Given the description of an element on the screen output the (x, y) to click on. 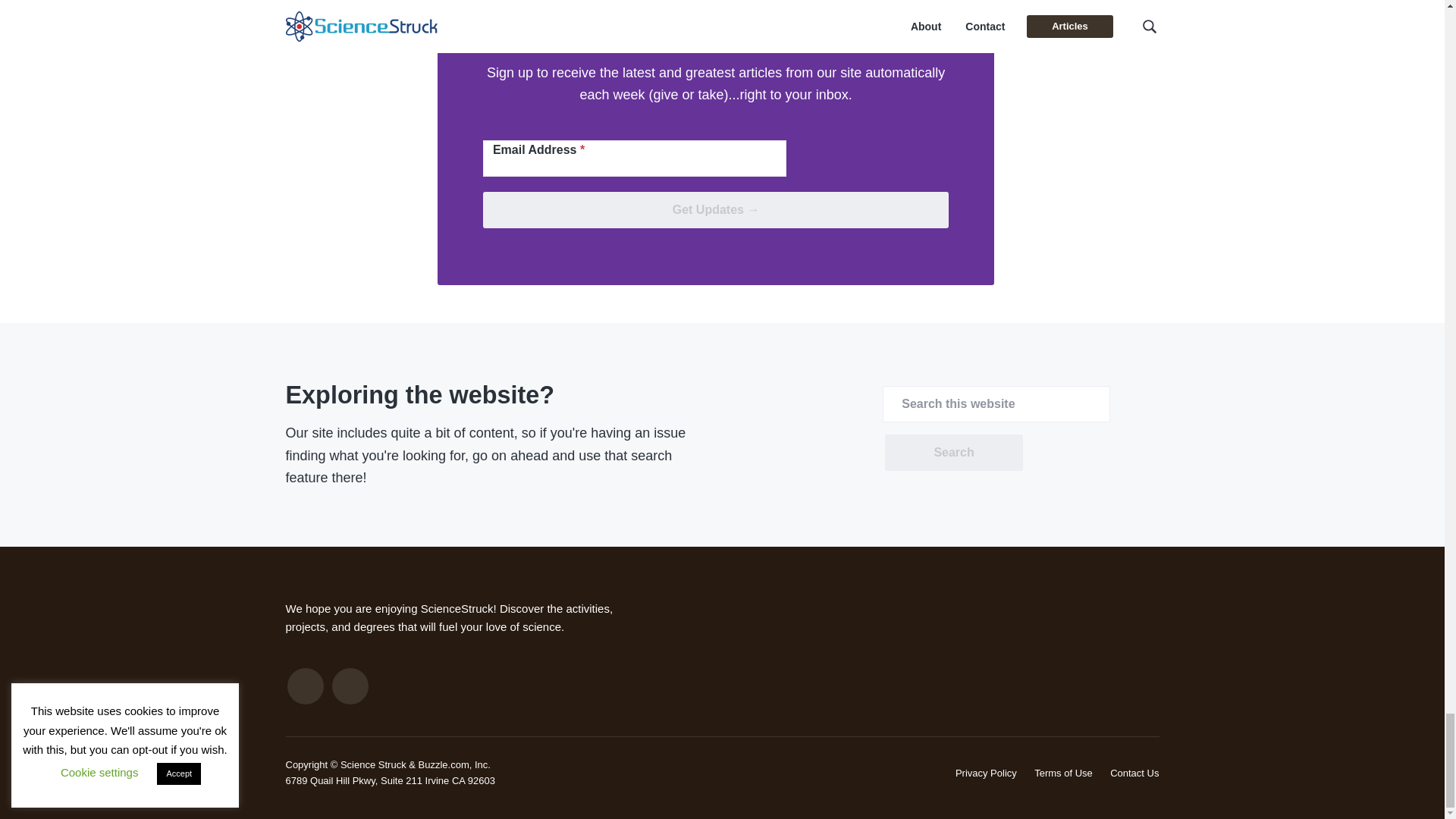
Search (953, 452)
Privacy Policy (985, 772)
Search (953, 452)
Search (953, 452)
Terms of Use (1063, 772)
Contact Us (1133, 772)
